Given the description of an element on the screen output the (x, y) to click on. 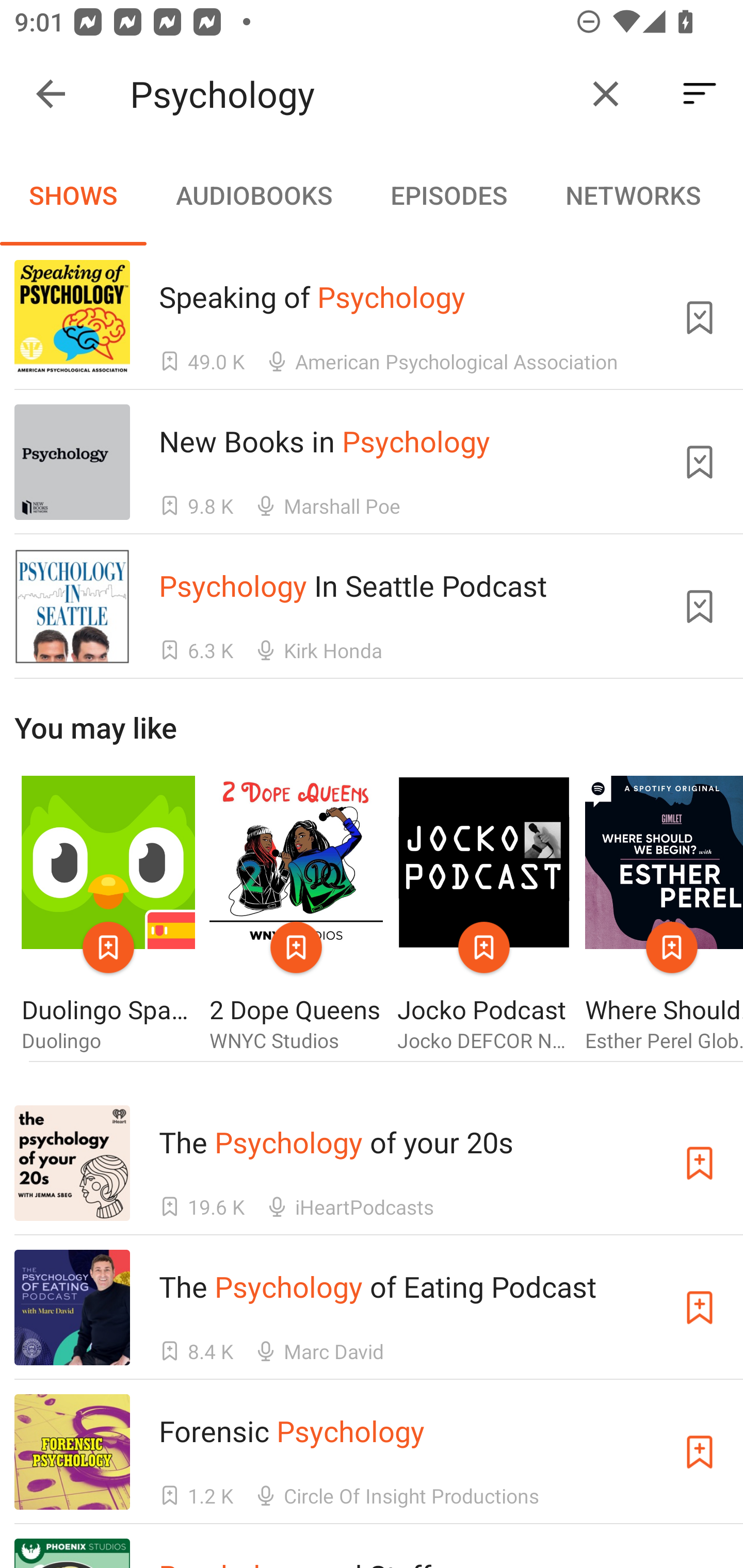
Collapse (50, 93)
Clear query (605, 93)
Sort By (699, 93)
Psychology (349, 94)
SHOWS (73, 195)
AUDIOBOOKS (253, 195)
EPISODES (448, 195)
NETWORKS (632, 195)
Unsubscribe (699, 317)
Unsubscribe (699, 462)
Unsubscribe (699, 606)
Duolingo Spanish Podcast Duolingo (107, 914)
2 Dope Queens WNYC Studios (295, 914)
Jocko Podcast Jocko DEFCOR Network (483, 914)
Subscribe (699, 1163)
Subscribe (699, 1307)
Subscribe (699, 1451)
